Given the description of an element on the screen output the (x, y) to click on. 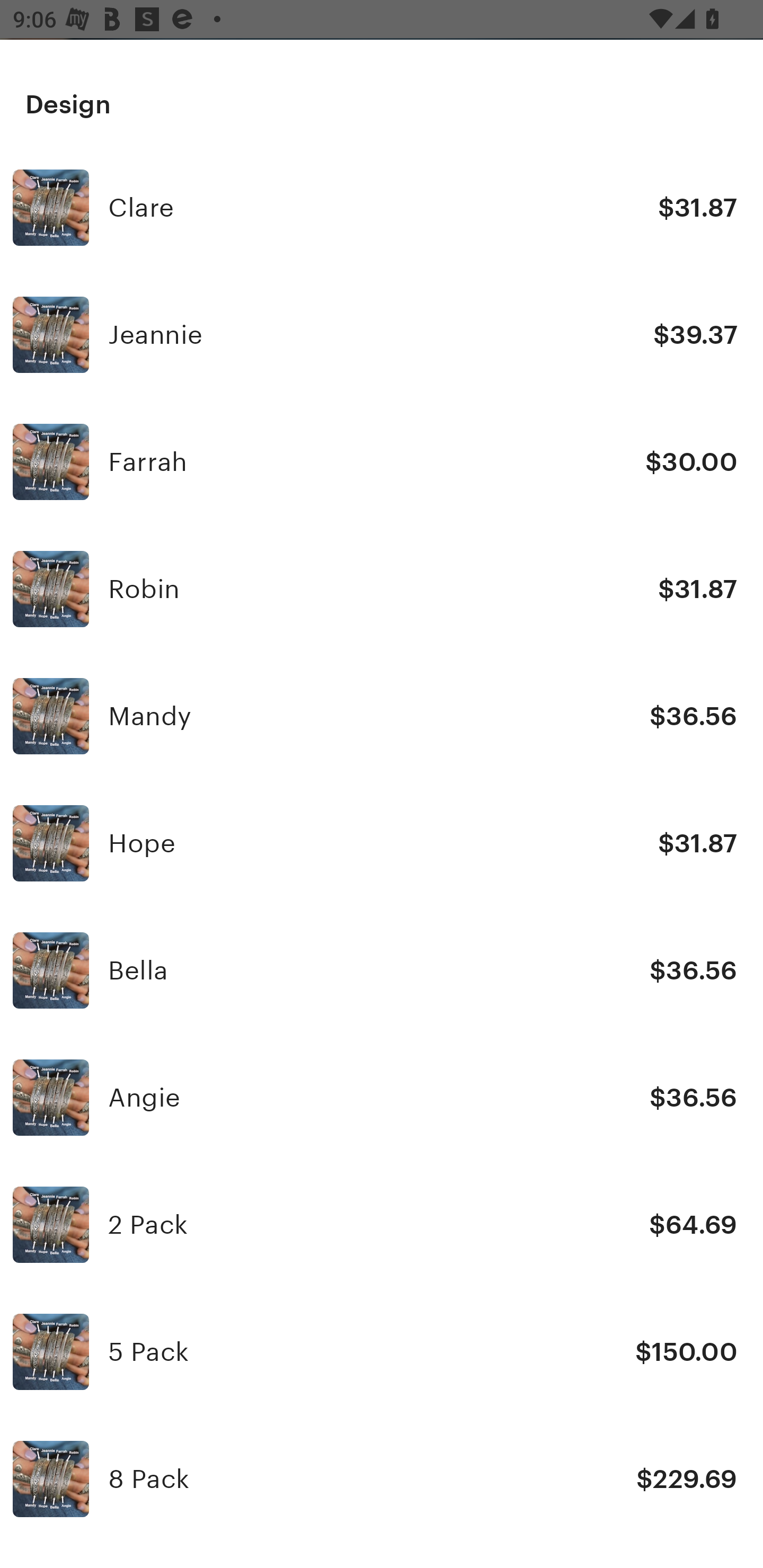
Clare $31.87 (381, 207)
Jeannie $39.37 (381, 334)
Farrah $30.00 (381, 461)
Robin $31.87 (381, 588)
Mandy $36.56 (381, 715)
Hope $31.87 (381, 842)
Bella $36.56 (381, 969)
Angie $36.56 (381, 1097)
2 Pack $64.69 (381, 1224)
5 Pack $150.00 (381, 1351)
8 Pack $229.69 (381, 1478)
